Given the description of an element on the screen output the (x, y) to click on. 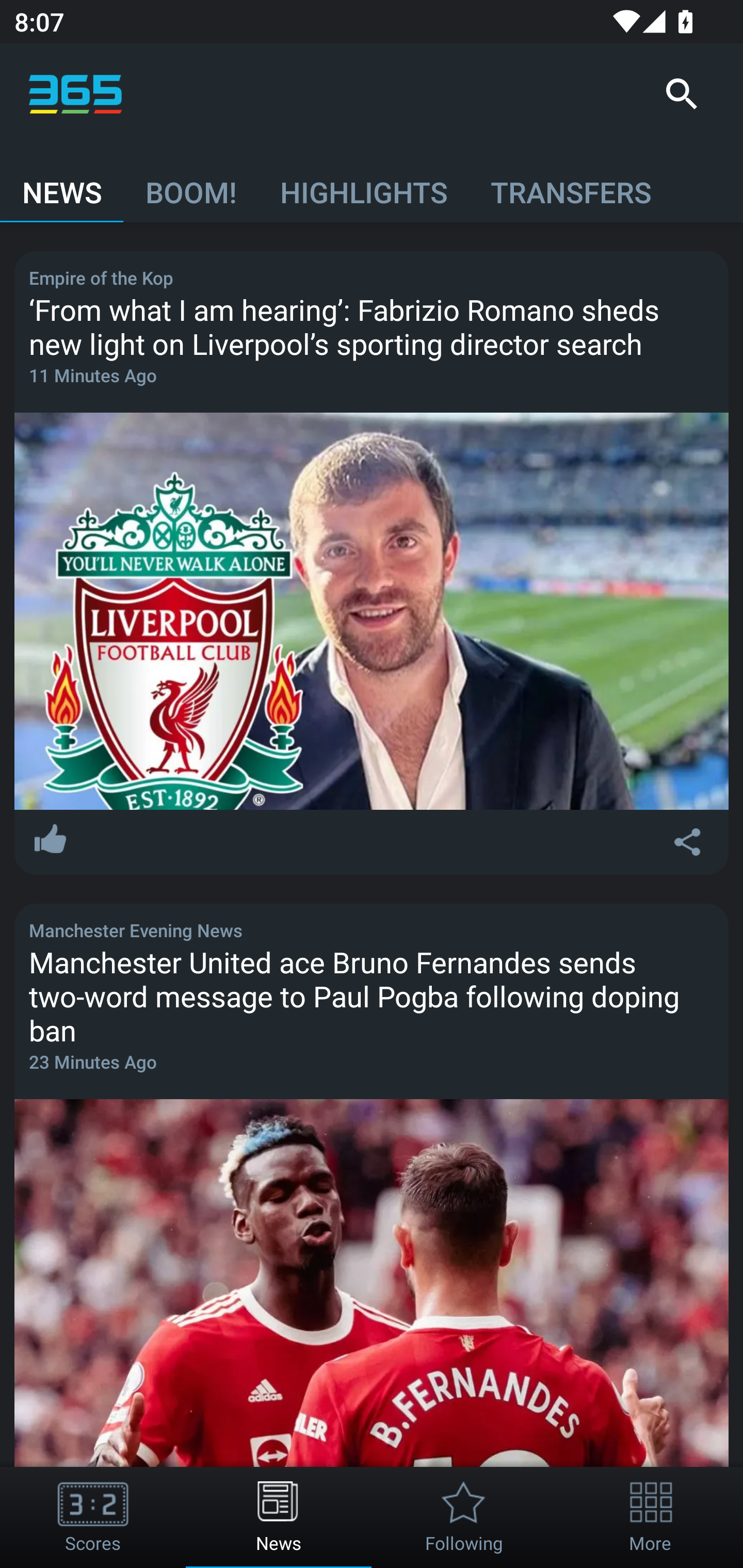
Search (681, 93)
NEWS (61, 183)
BOOM! (190, 183)
HIGHLIGHTS (362, 183)
TRANSFERS (570, 183)
Scores (92, 1517)
Following (464, 1517)
More (650, 1517)
